Given the description of an element on the screen output the (x, y) to click on. 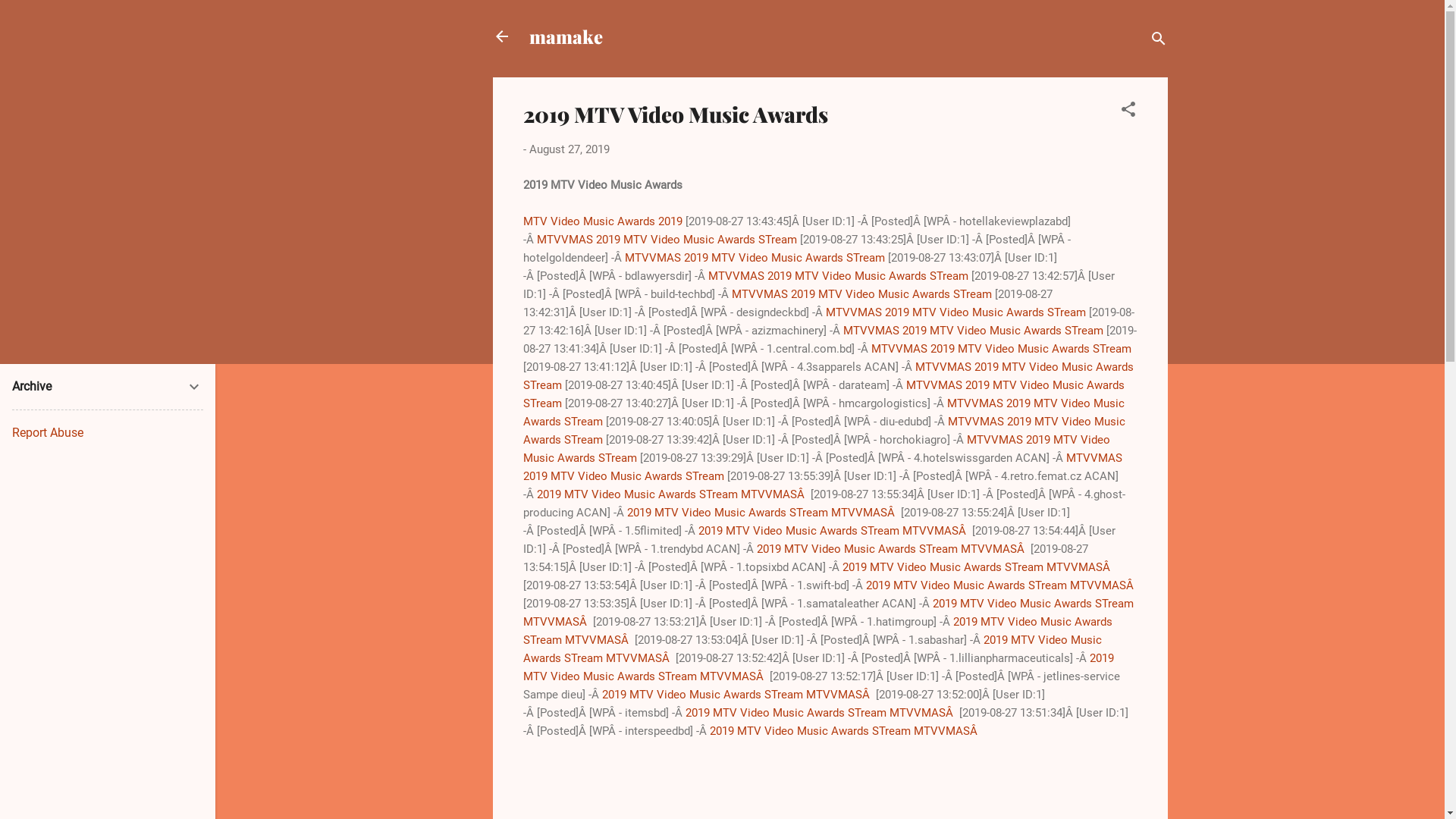
Report Abuse Element type: text (47, 432)
MTVVMAS 2019 MTV Video Music Awards STream Element type: text (1000, 347)
MTVVMAS 2019 MTV Video Music Awards STream Element type: text (973, 329)
MTVVMAS 2019 MTV Video Music Awards STream Element type: text (828, 375)
MTVVMAS 2019 MTV Video Music Awards STream Element type: text (823, 393)
MTVVMAS 2019 MTV Video Music Awards STream Element type: text (838, 275)
mamake Element type: text (565, 36)
MTVVMAS 2019 MTV Video Music Awards STream Element type: text (754, 256)
MTVVMAS 2019 MTV Video Music Awards STream Element type: text (861, 293)
MTVVMAS 2019 MTV Video Music Awards STream Element type: text (824, 429)
MTVVMAS 2019 MTV Video Music Awards STream Element type: text (822, 466)
MTV Video Music Awards 2019 Element type: text (602, 220)
Search Element type: text (28, 18)
August 27, 2019 Element type: text (569, 149)
MTVVMAS 2019 MTV Video Music Awards STream Element type: text (823, 411)
MTVVMAS 2019 MTV Video Music Awards STream Element type: text (955, 311)
MTVVMAS 2019 MTV Video Music Awards STream Element type: text (666, 238)
MTVVMAS 2019 MTV Video Music Awards STream Element type: text (816, 448)
